Given the description of an element on the screen output the (x, y) to click on. 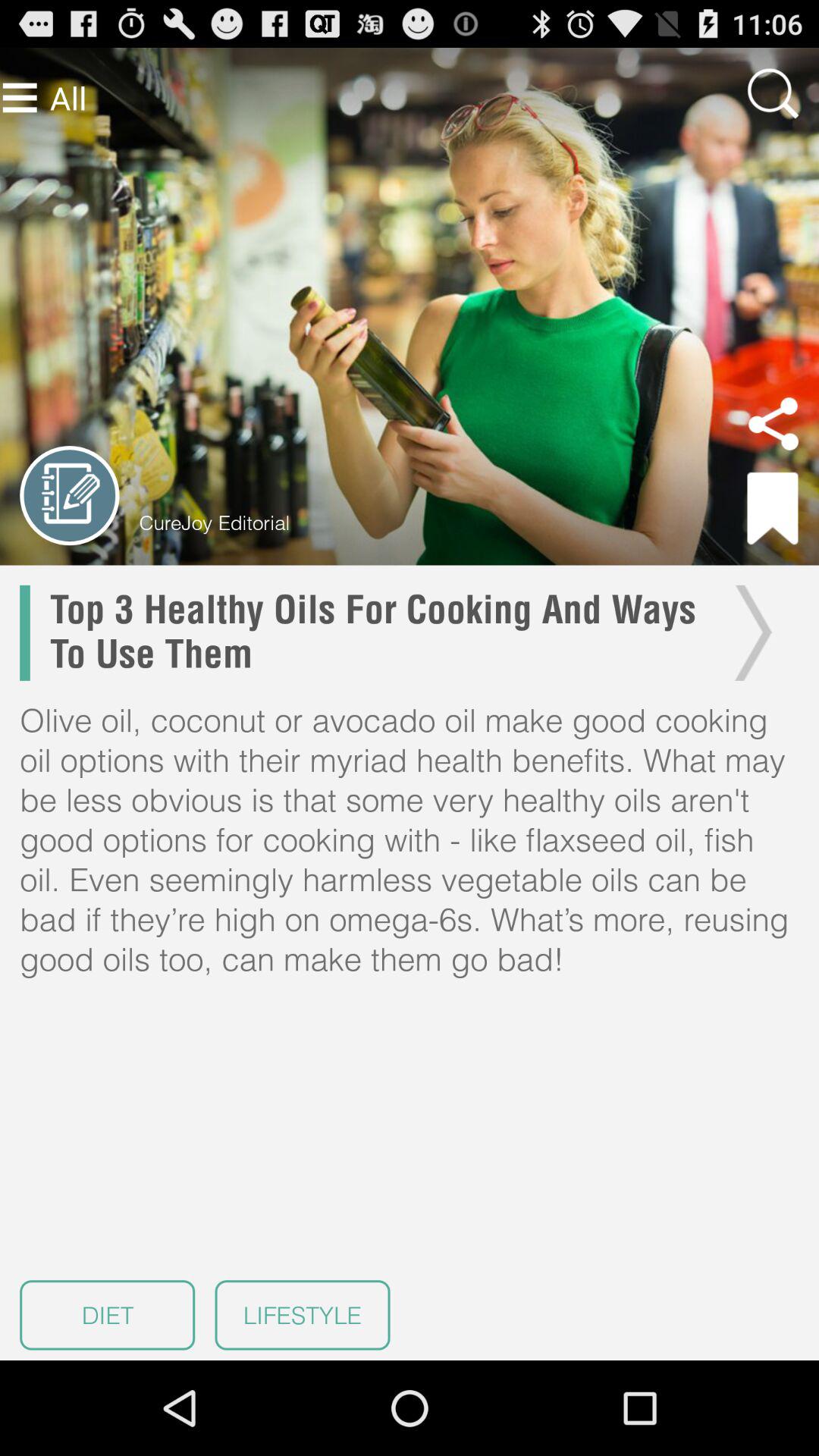
turn on item to the right of curejoy editorial item (773, 508)
